Given the description of an element on the screen output the (x, y) to click on. 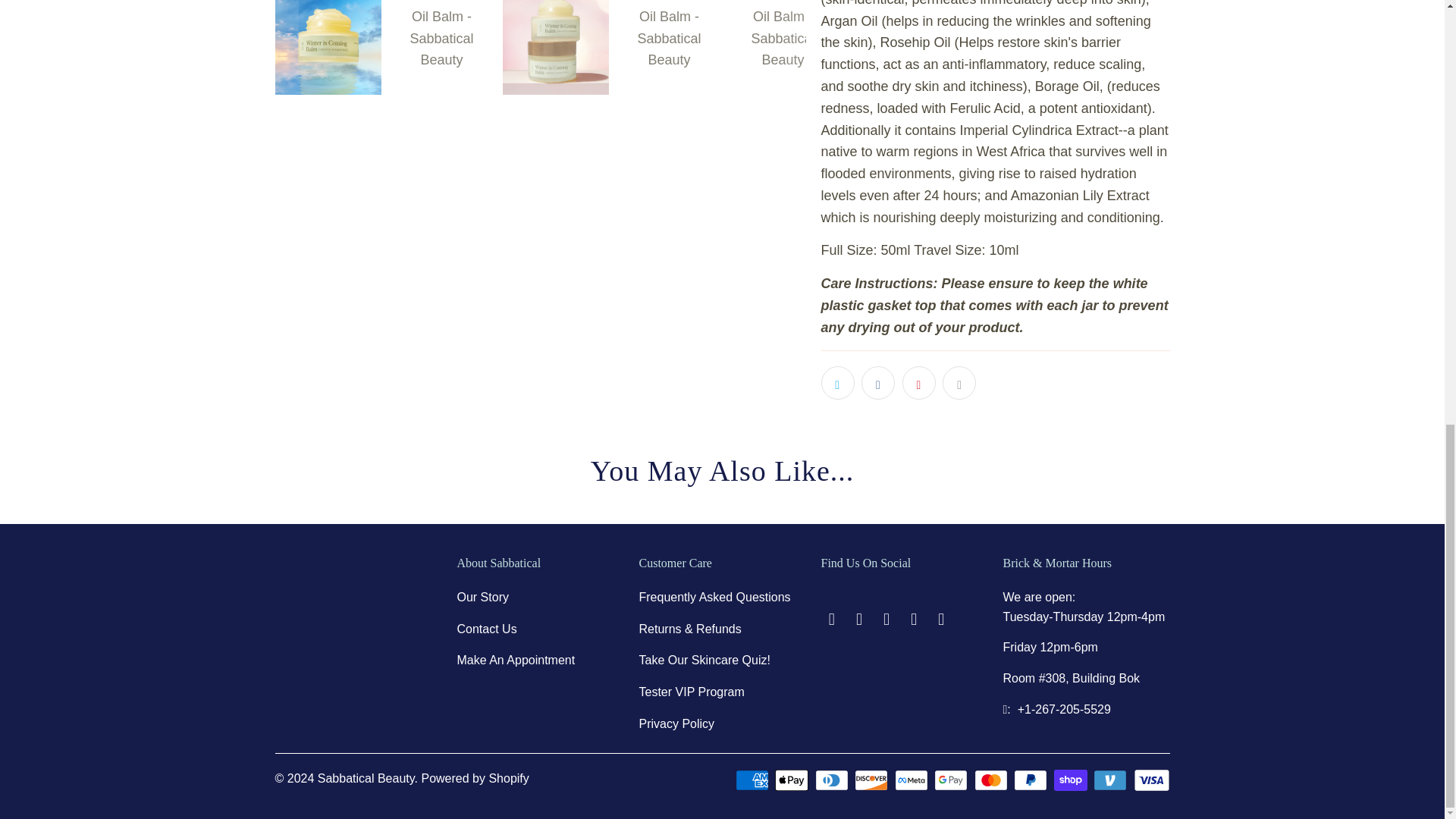
Shop Pay (1072, 780)
Share this on Twitter (837, 382)
Google Pay (952, 780)
Venmo (1111, 780)
Sabbatical Beauty on Pinterest (887, 619)
Email this to a friend (958, 382)
Mastercard (992, 780)
Visa (1150, 780)
Apple Pay (792, 780)
PayPal (1031, 780)
American Express (753, 780)
Sabbatical Beauty on YouTube (859, 619)
Sabbatical Beauty on Facebook (832, 619)
Share this on Pinterest (919, 382)
Discover (872, 780)
